Given the description of an element on the screen output the (x, y) to click on. 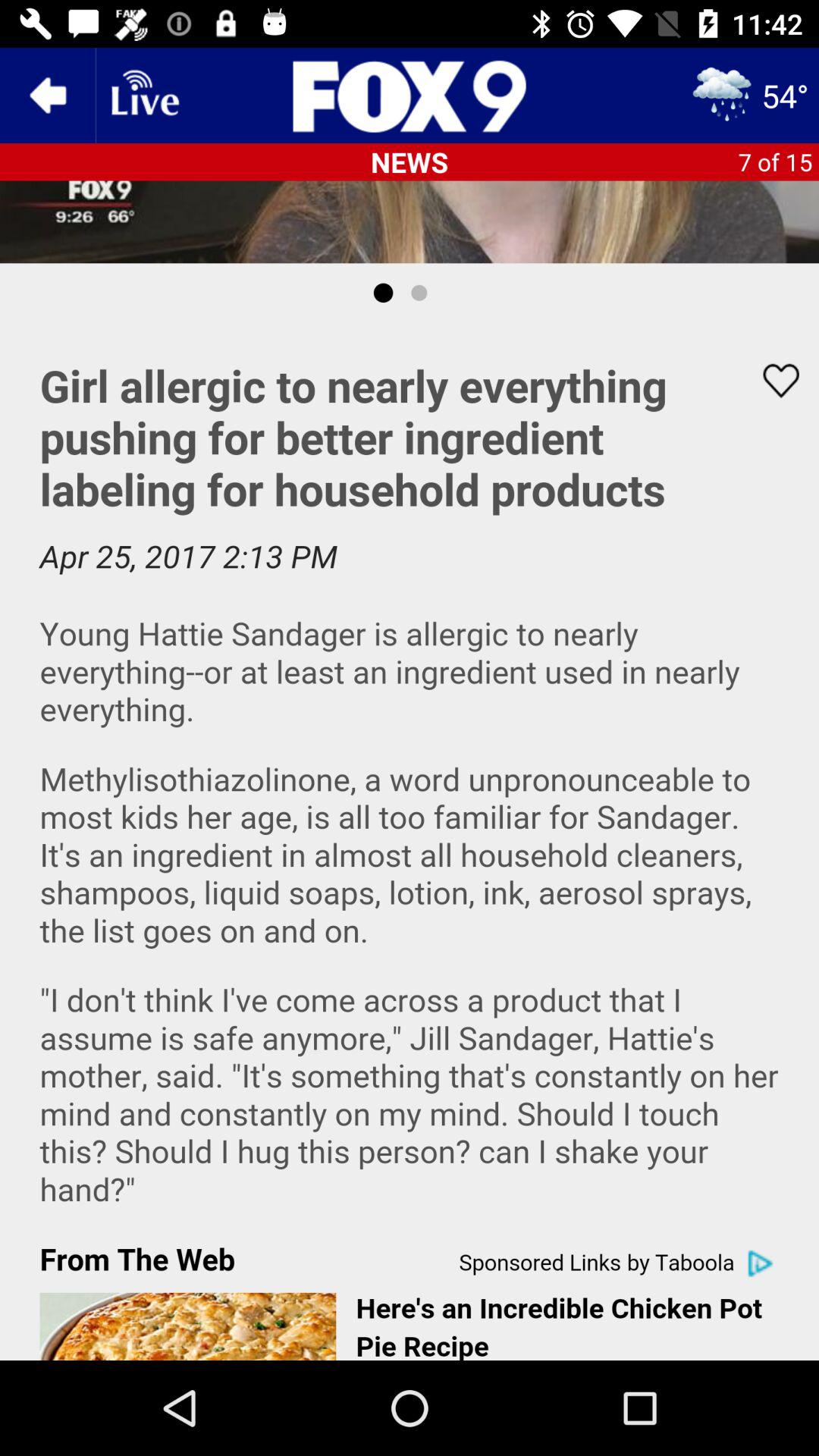
fox (409, 95)
